Given the description of an element on the screen output the (x, y) to click on. 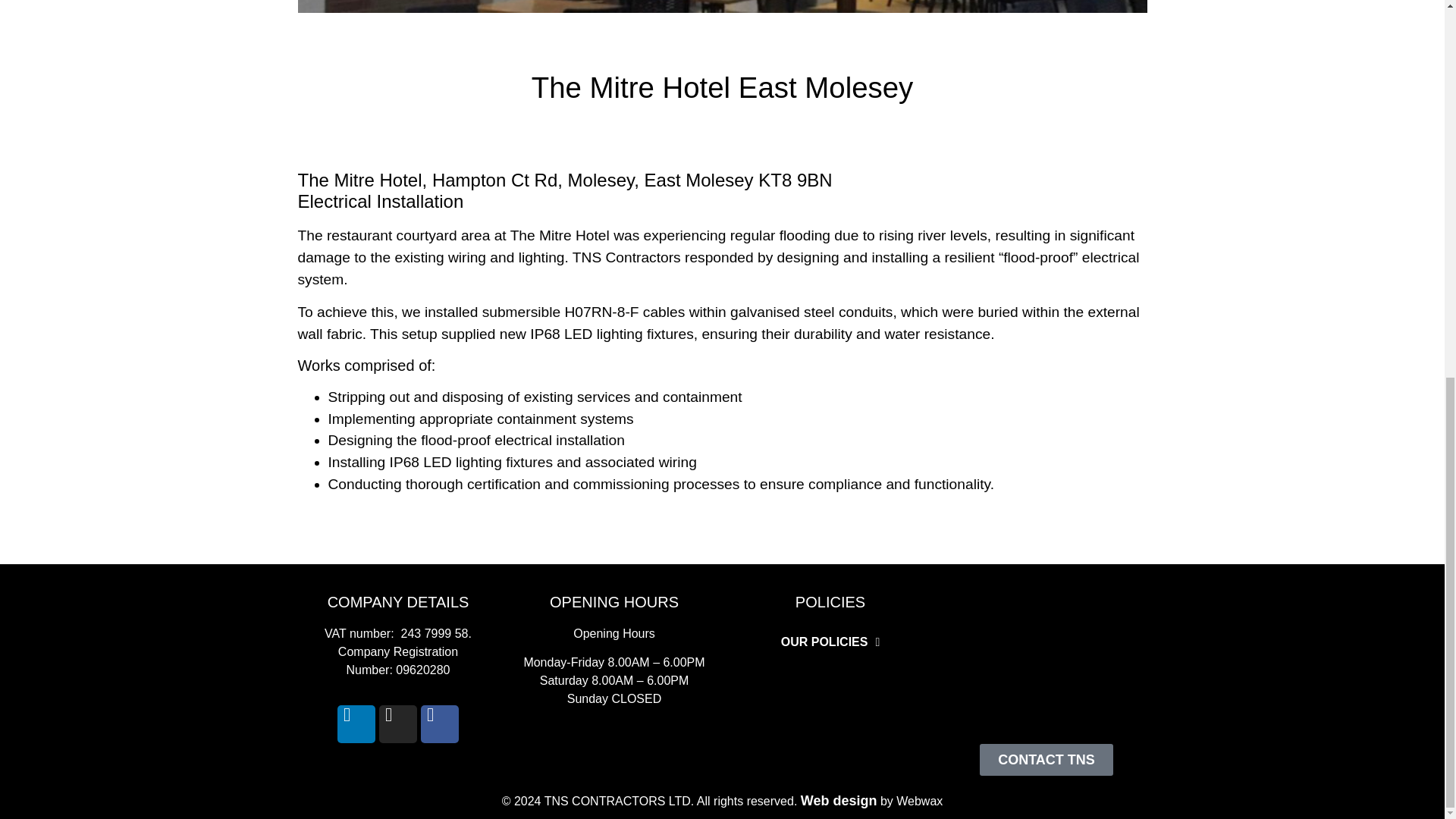
Web design (838, 800)
TNS Logo Chrome (1046, 661)
CONTACT TNS (1046, 759)
OUR POLICIES (830, 642)
